Given the description of an element on the screen output the (x, y) to click on. 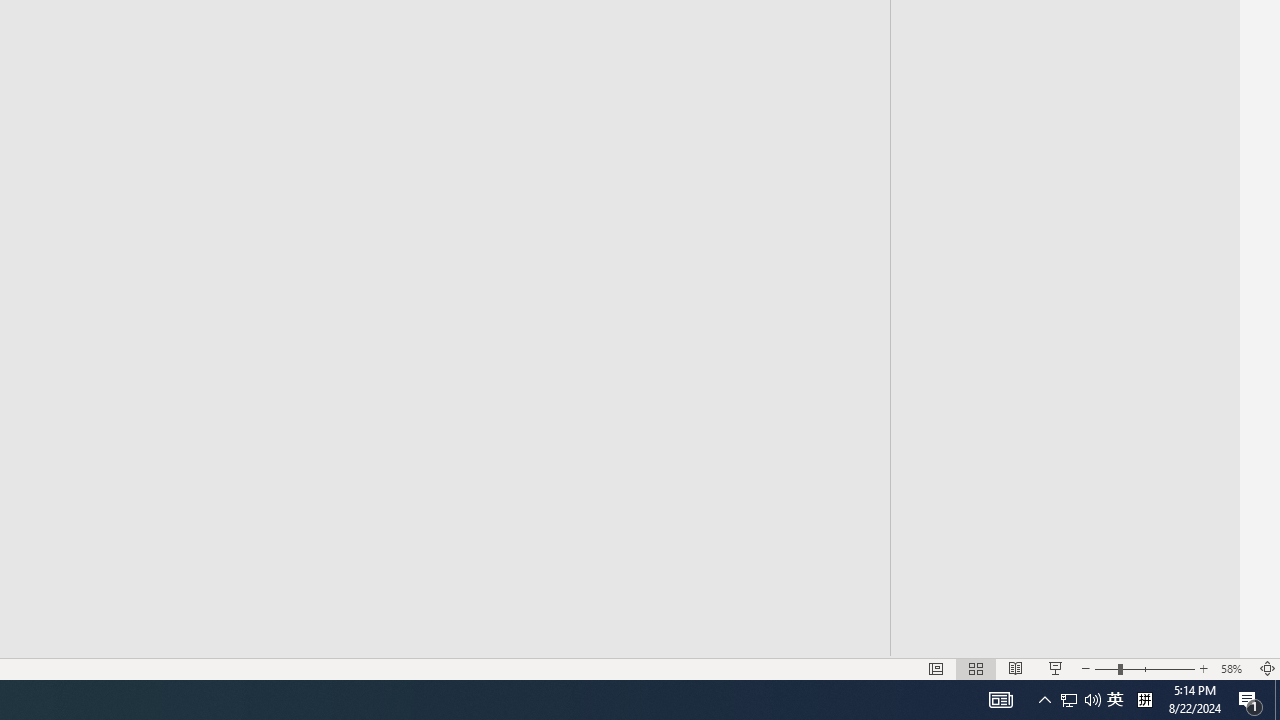
Zoom 58% (1234, 668)
